Given the description of an element on the screen output the (x, y) to click on. 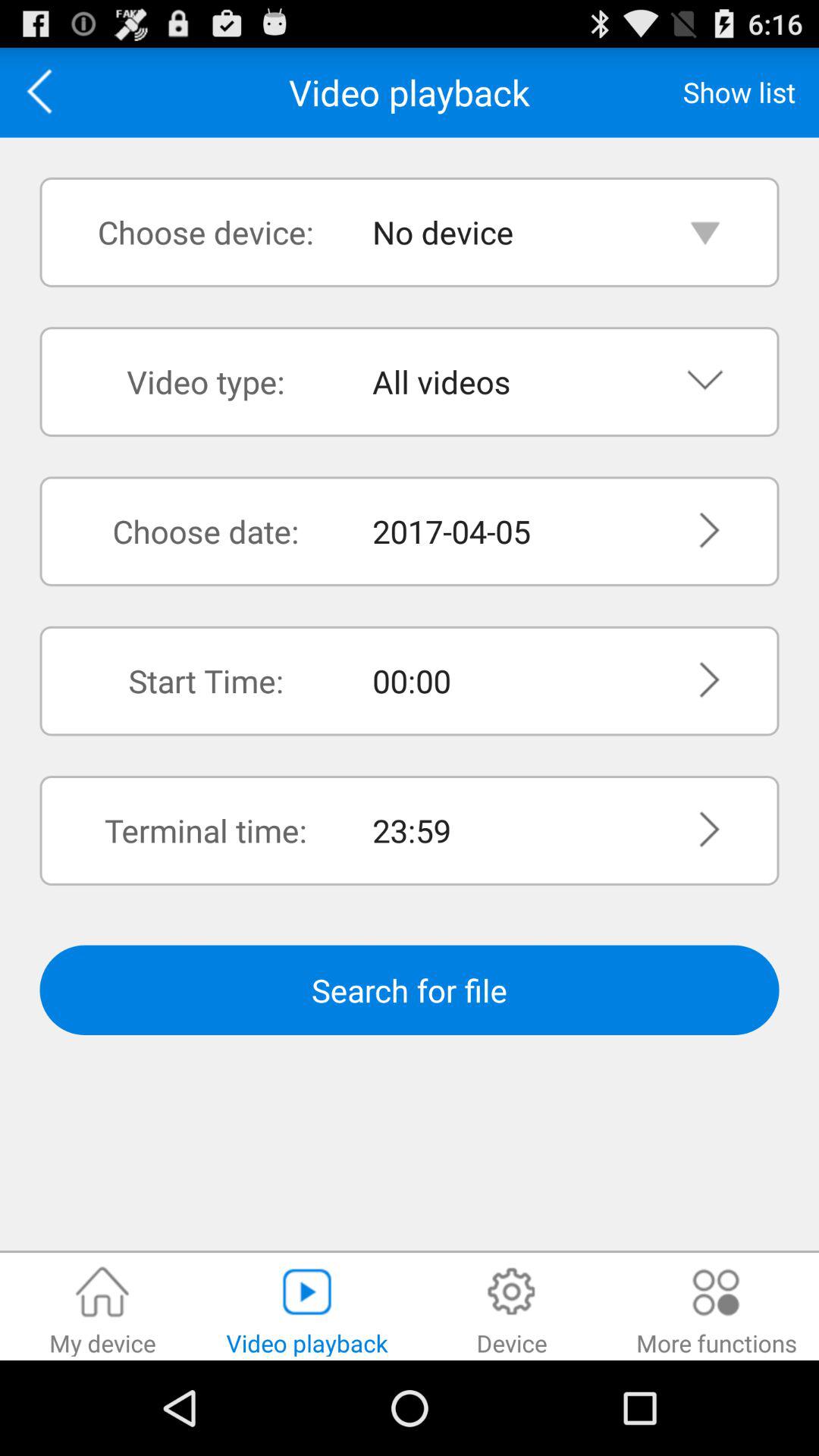
open the item to the left of video playback (44, 92)
